Given the description of an element on the screen output the (x, y) to click on. 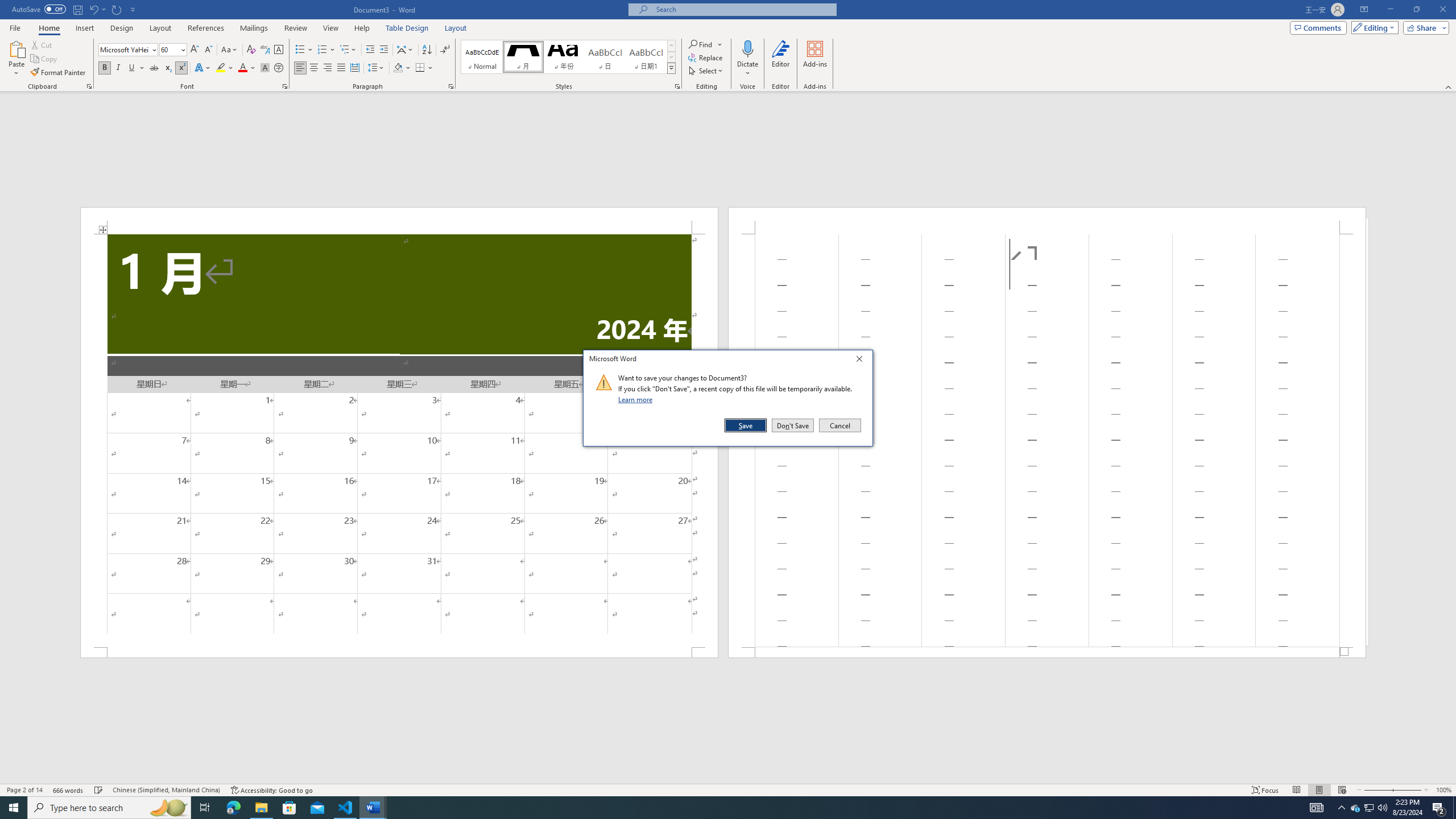
Footer -Section 1- (1046, 652)
Font Color RGB(255, 0, 0) (241, 67)
Show desktop (1454, 807)
AutomationID: QuickStylesGallery (568, 56)
Phonetic Guide... (264, 49)
Line and Paragraph Spacing (376, 67)
Change Case (229, 49)
Microsoft search (742, 9)
